Given the description of an element on the screen output the (x, y) to click on. 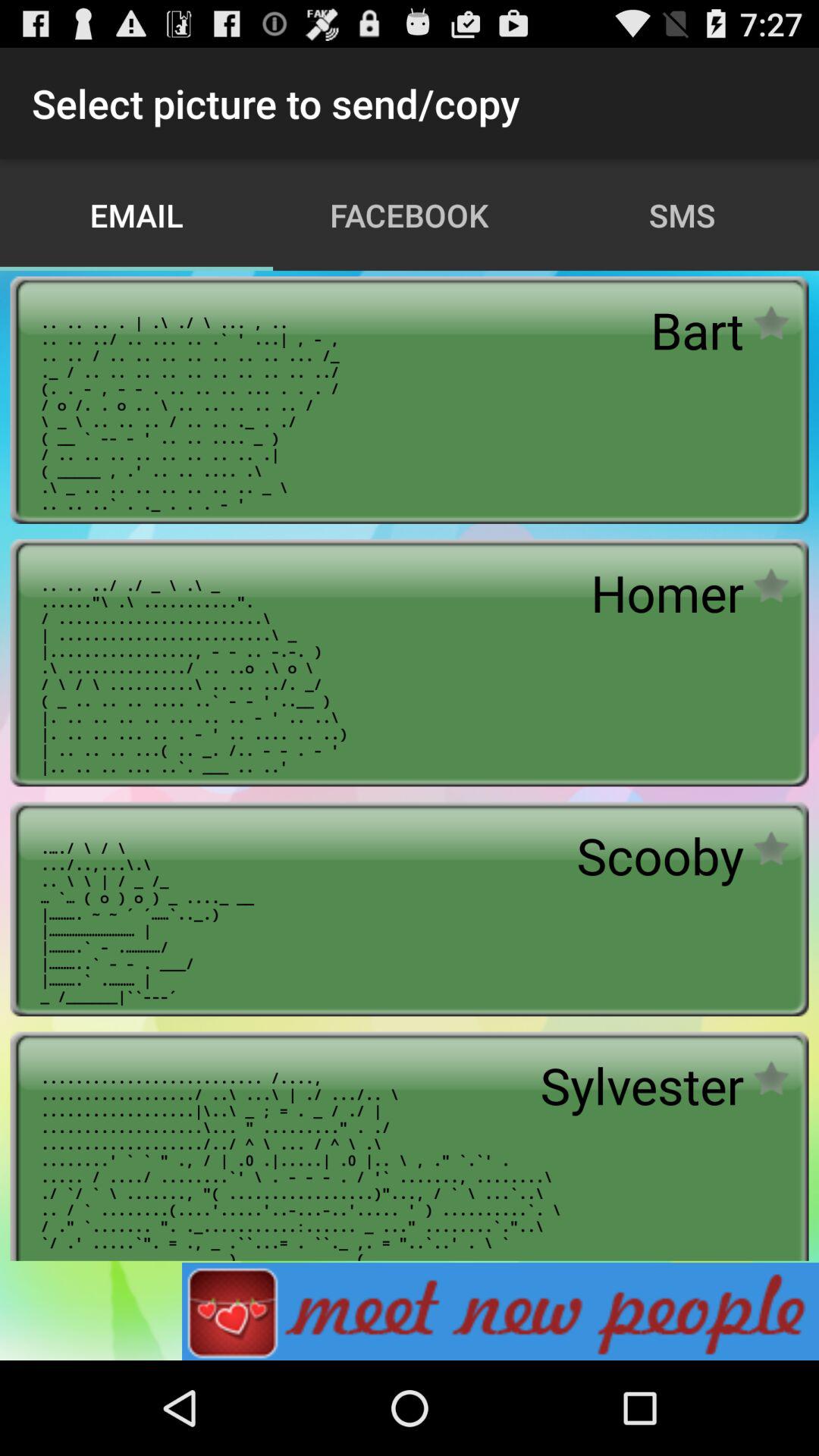
choose homer (666, 592)
